Given the description of an element on the screen output the (x, y) to click on. 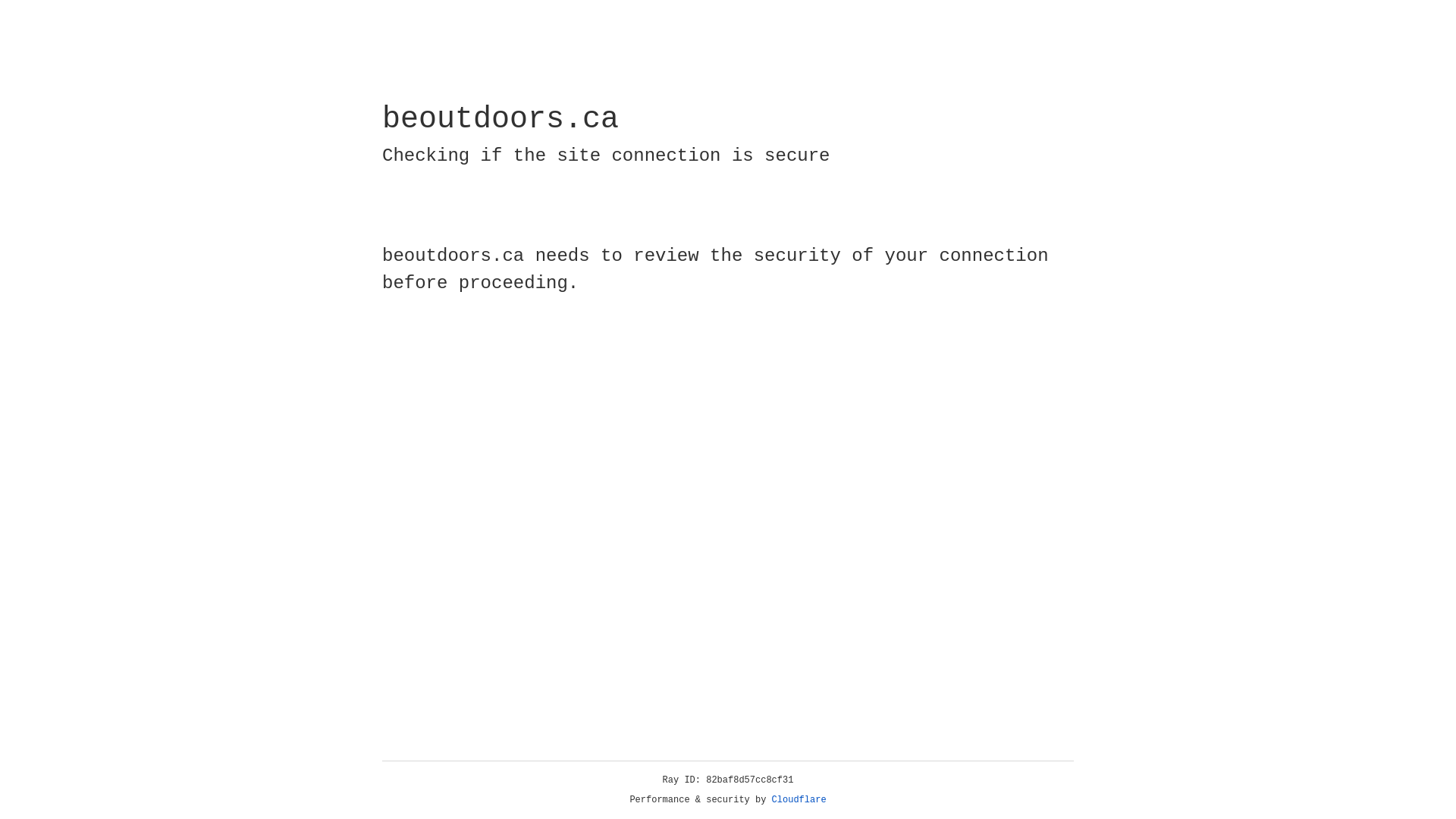
Cloudflare Element type: text (798, 799)
